Given the description of an element on the screen output the (x, y) to click on. 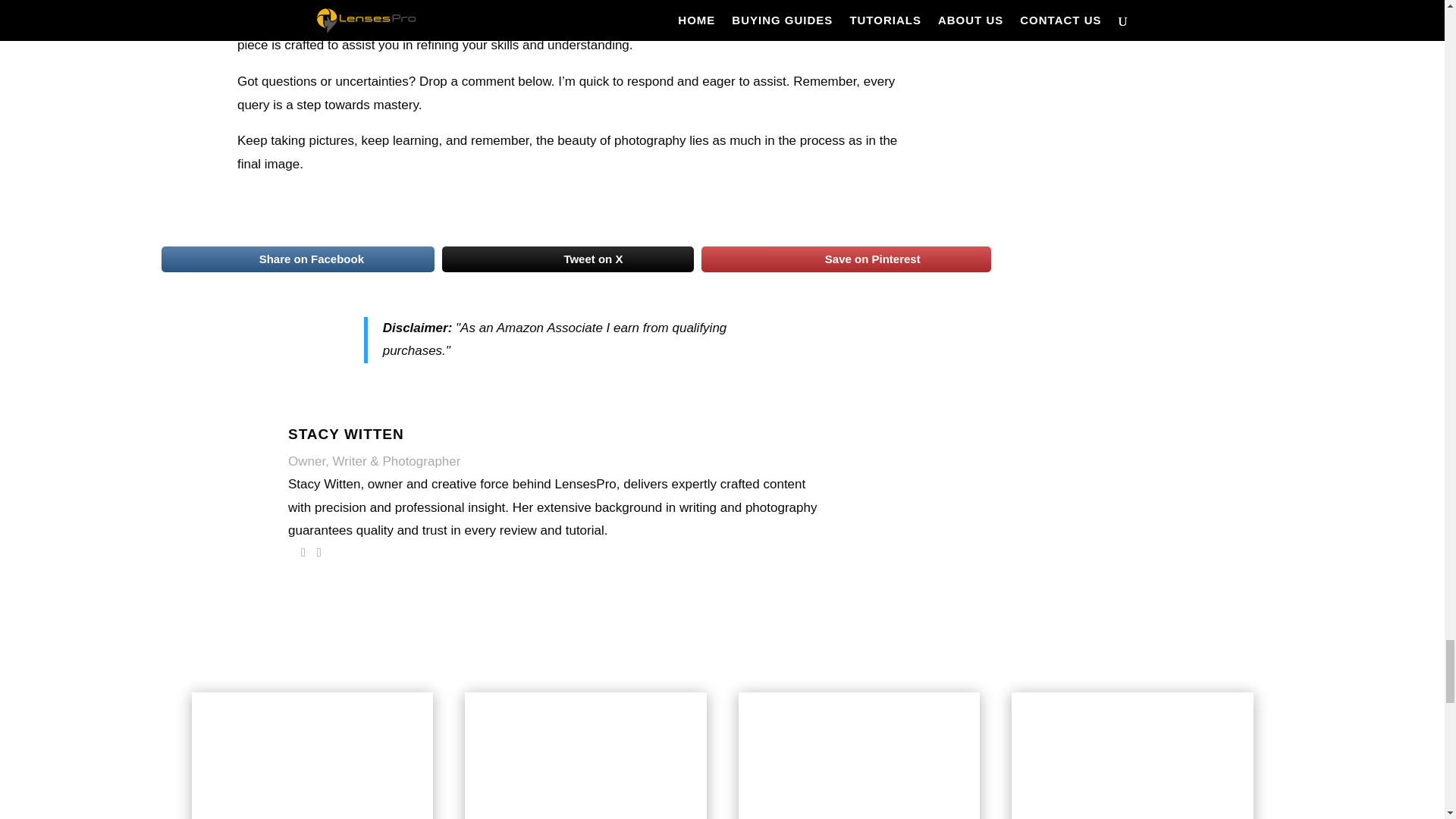
Share on Facebook (296, 258)
Save on Pinterest (846, 258)
Tweet on X (567, 258)
